Given the description of an element on the screen output the (x, y) to click on. 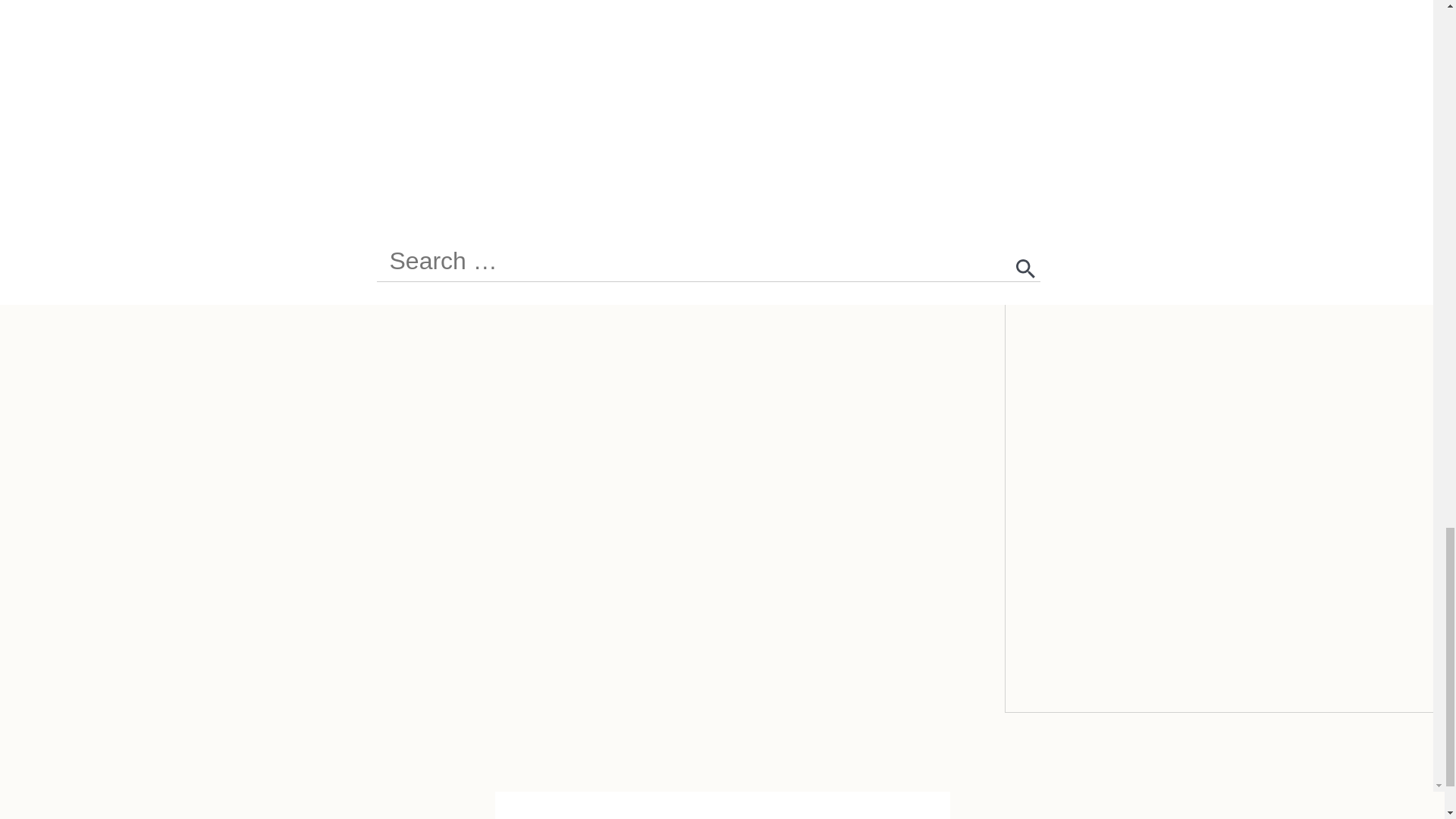
Search (1025, 267)
